Given the description of an element on the screen output the (x, y) to click on. 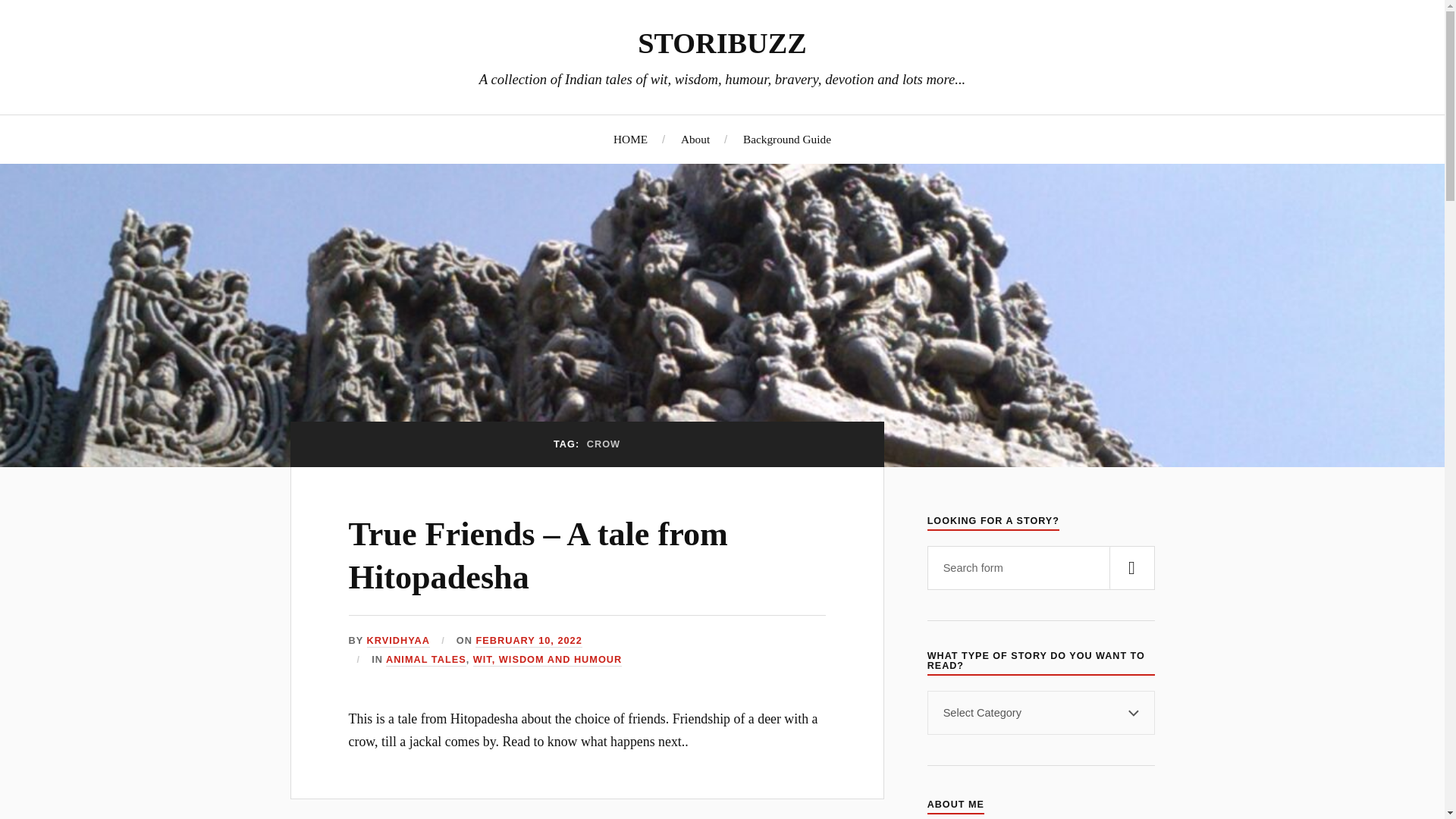
ANIMAL TALES (425, 659)
Background Guide (786, 138)
KRVIDHYAA (397, 640)
WIT, WISDOM AND HUMOUR (547, 659)
Posts by krvidhyaa (397, 640)
STORIBUZZ (721, 42)
FEBRUARY 10, 2022 (528, 640)
